Given the description of an element on the screen output the (x, y) to click on. 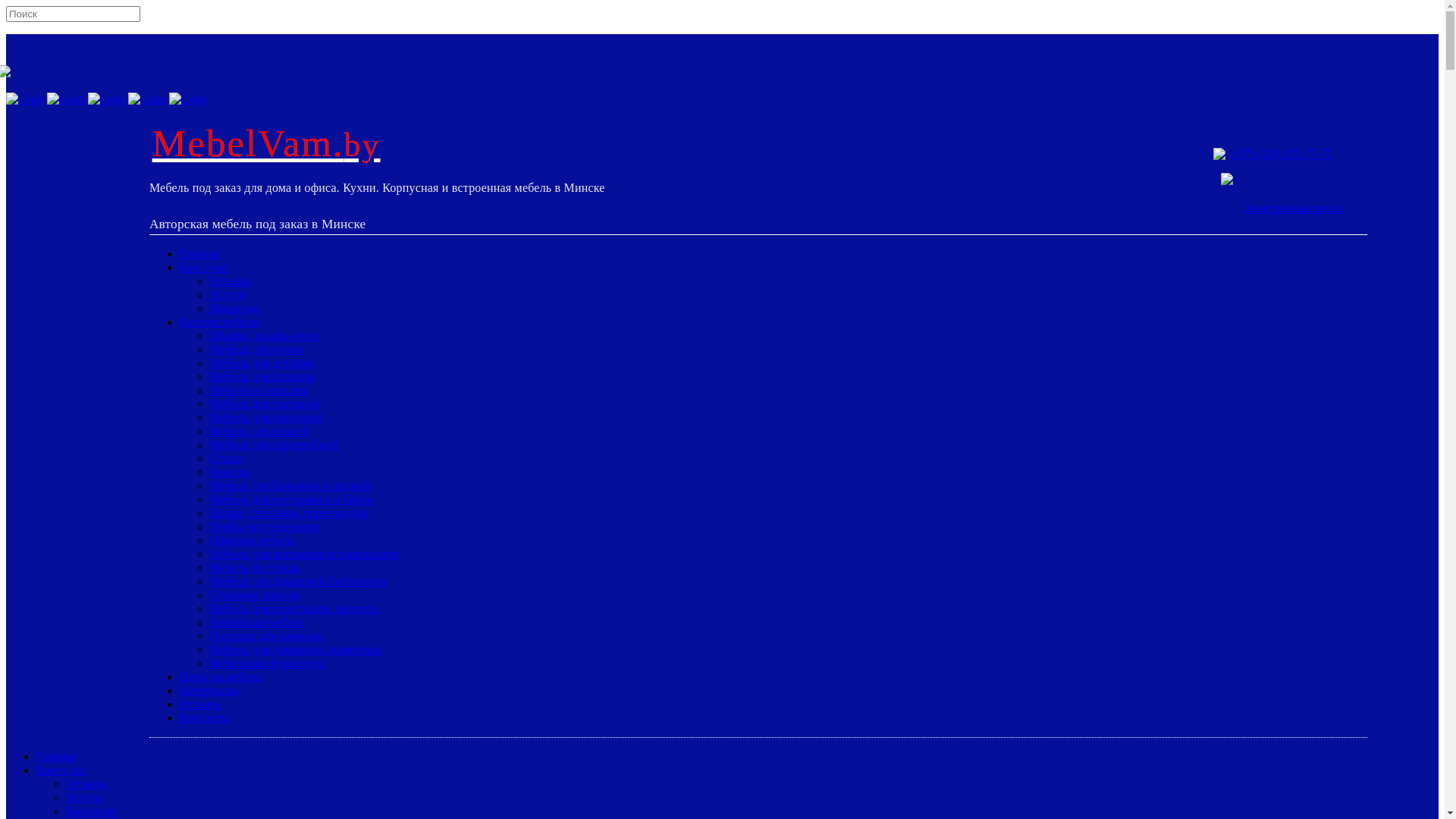
+375 (29) 173-77-77 Element type: text (1281, 153)
MebelVam.by Element type: text (266, 143)
